Given the description of an element on the screen output the (x, y) to click on. 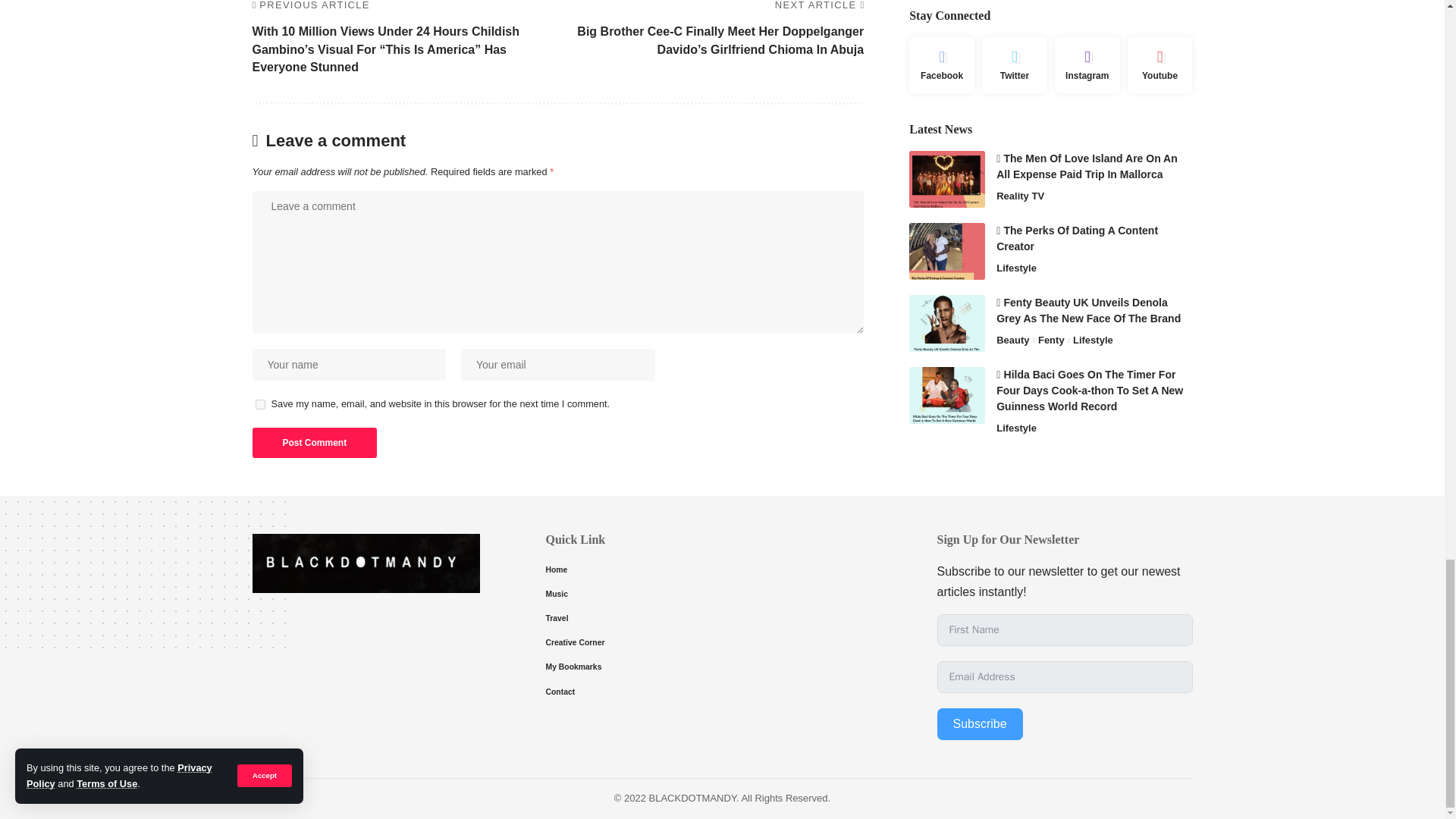
Post Comment (314, 442)
yes (259, 404)
